Given the description of an element on the screen output the (x, y) to click on. 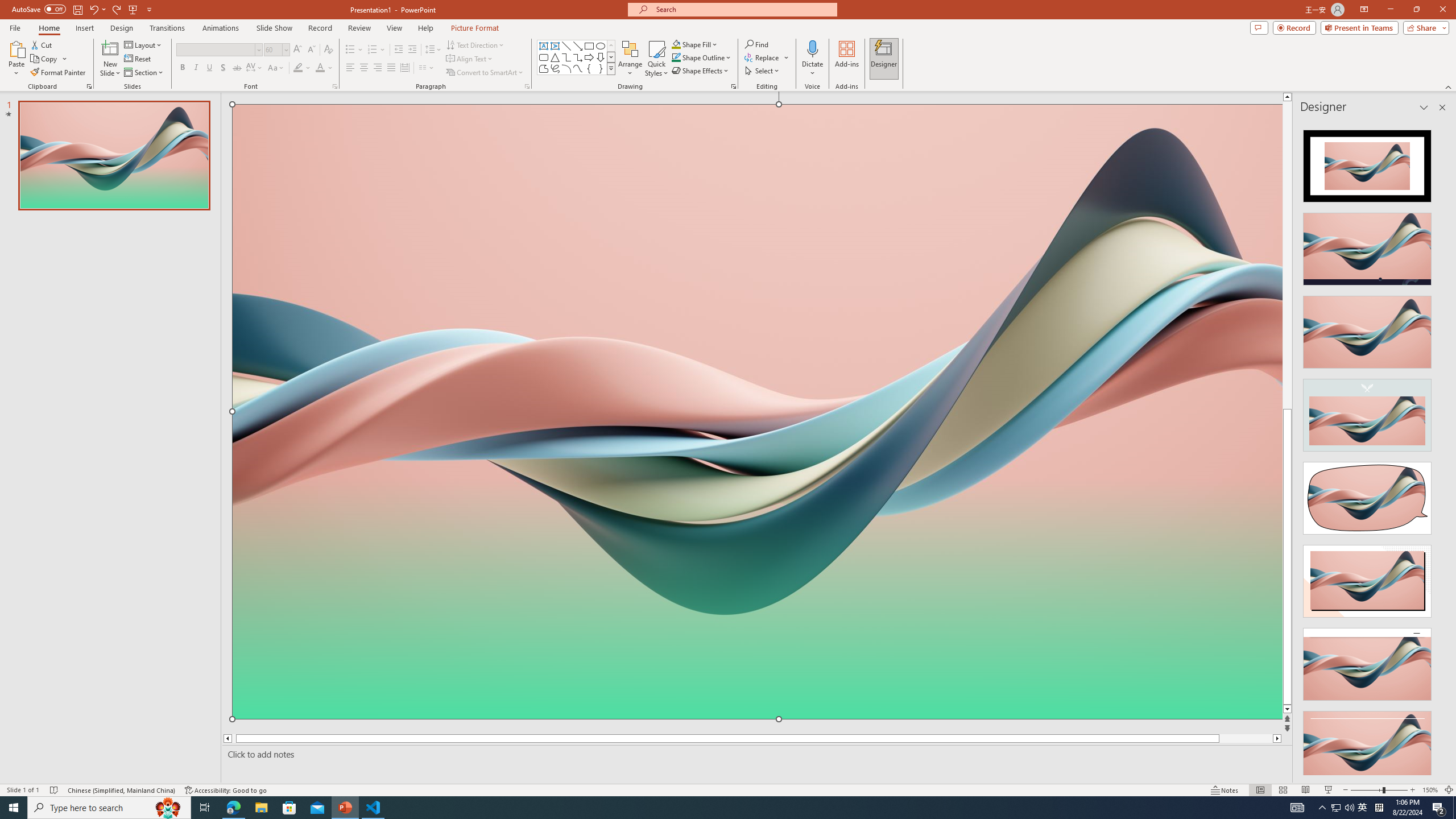
Picture Format (475, 28)
